Given the description of an element on the screen output the (x, y) to click on. 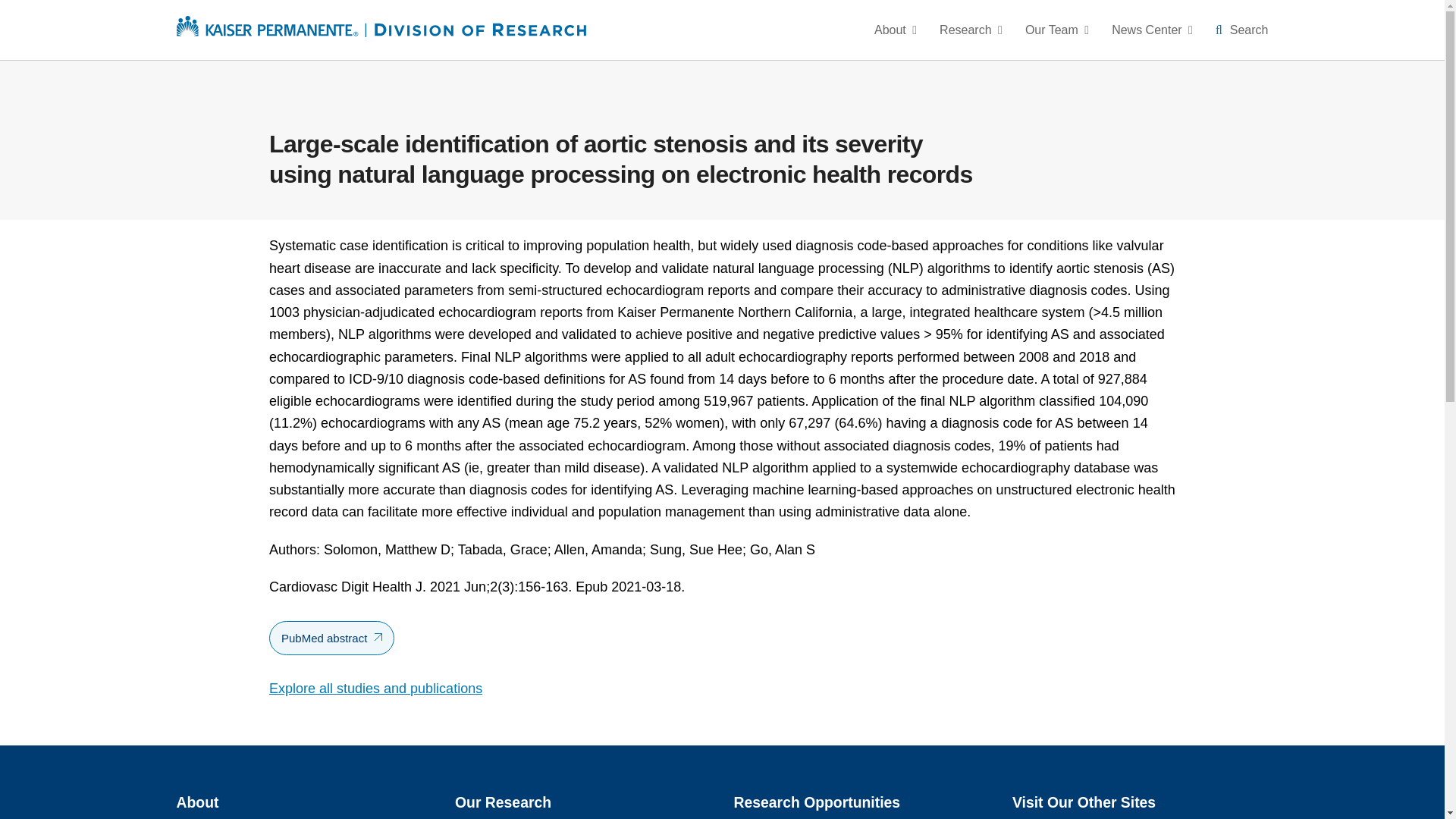
About (897, 30)
Research (970, 30)
Our Team (1056, 30)
News Center (1152, 30)
